Given the description of an element on the screen output the (x, y) to click on. 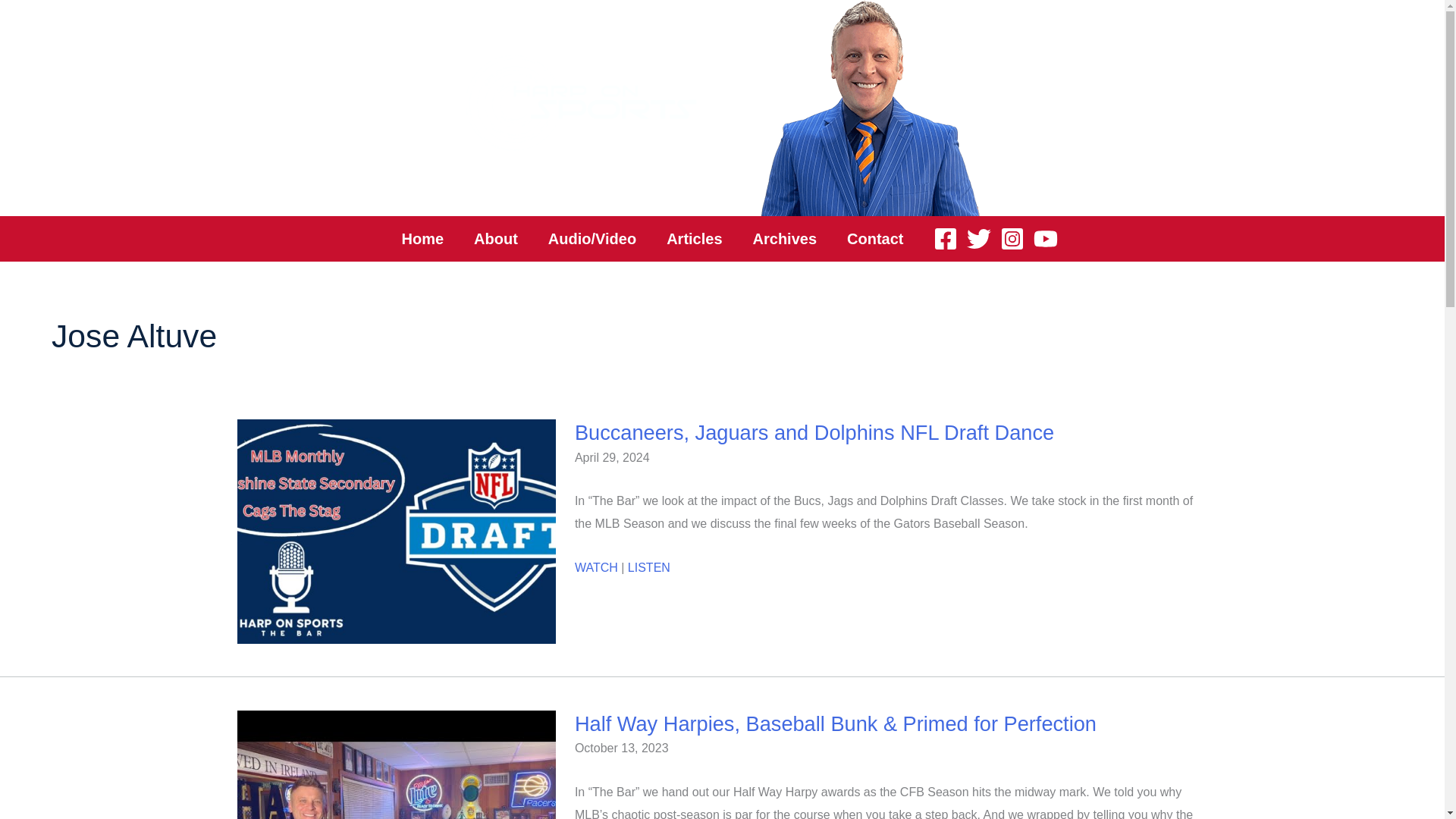
LISTEN (648, 567)
Articles (693, 238)
About (495, 238)
Archives (785, 238)
Buccaneers, Jaguars and Dolphins NFL Draft Dance (814, 432)
Home (423, 238)
Contact (874, 238)
WATCH (596, 567)
